Given the description of an element on the screen output the (x, y) to click on. 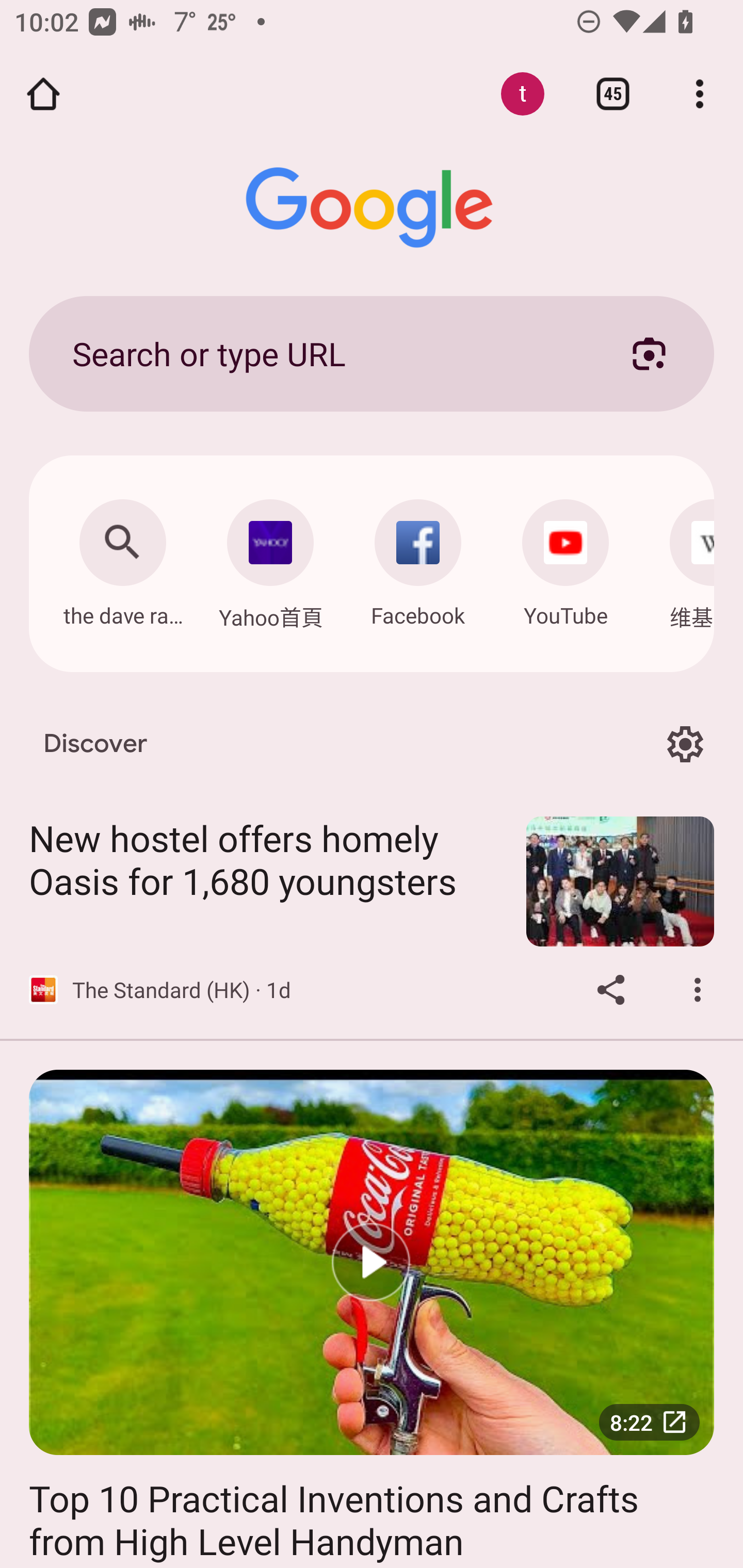
Open the home page (43, 93)
Switch or close tabs (612, 93)
Customize and control Google Chrome (699, 93)
Search or type URL (327, 353)
Search with your camera using Google Lens (648, 353)
Search: the dave ramsey show the dave ramsey show (122, 558)
Navigate: Yahoo首頁: hk.mobi.yahoo.com Yahoo首頁 (270, 558)
Navigate: Facebook: m.facebook.com Facebook (417, 558)
Navigate: YouTube: m.youtube.com YouTube (565, 558)
Options for Discover (684, 743)
